Given the description of an element on the screen output the (x, y) to click on. 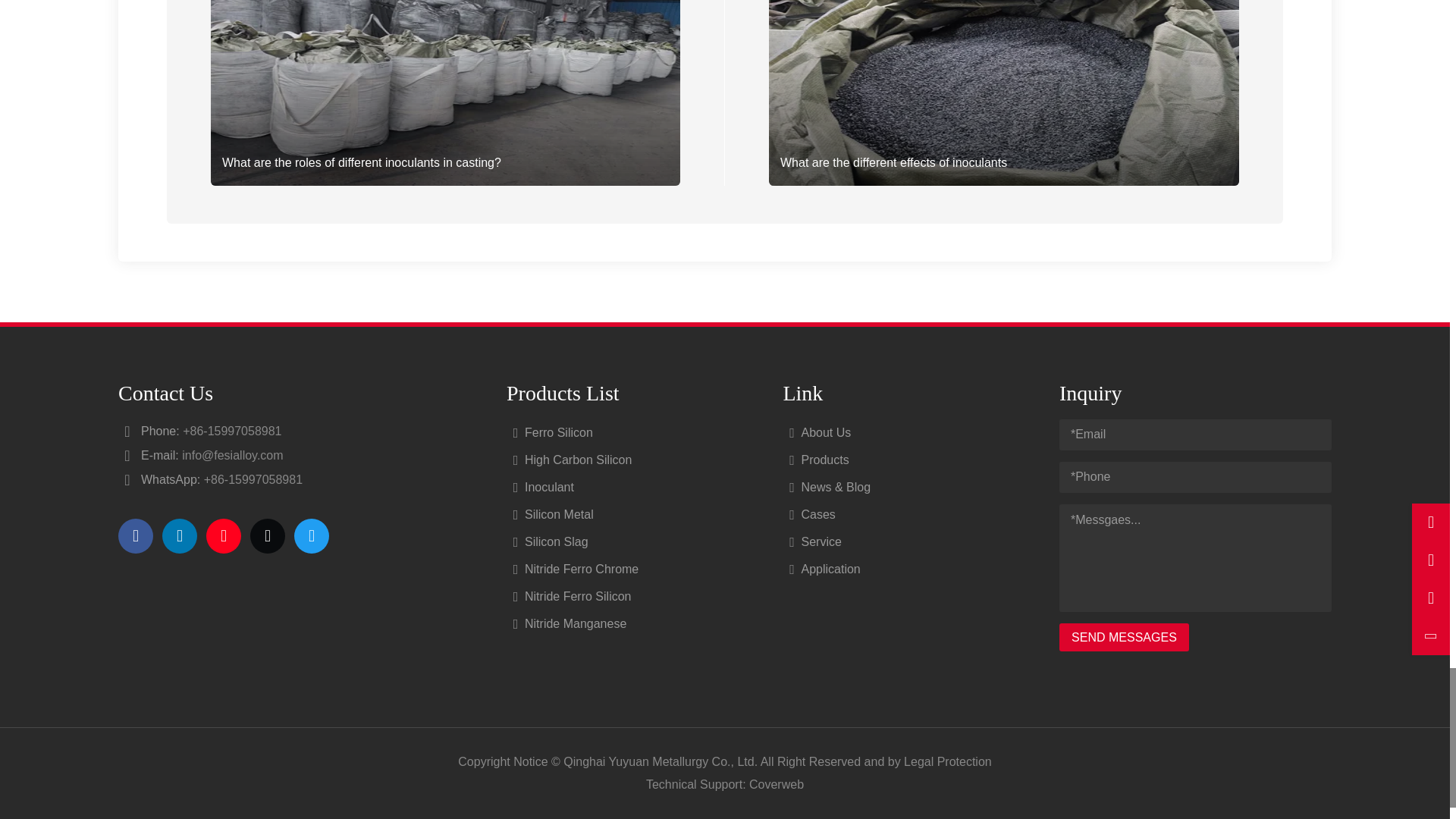
Send Messages (1124, 637)
